Given the description of an element on the screen output the (x, y) to click on. 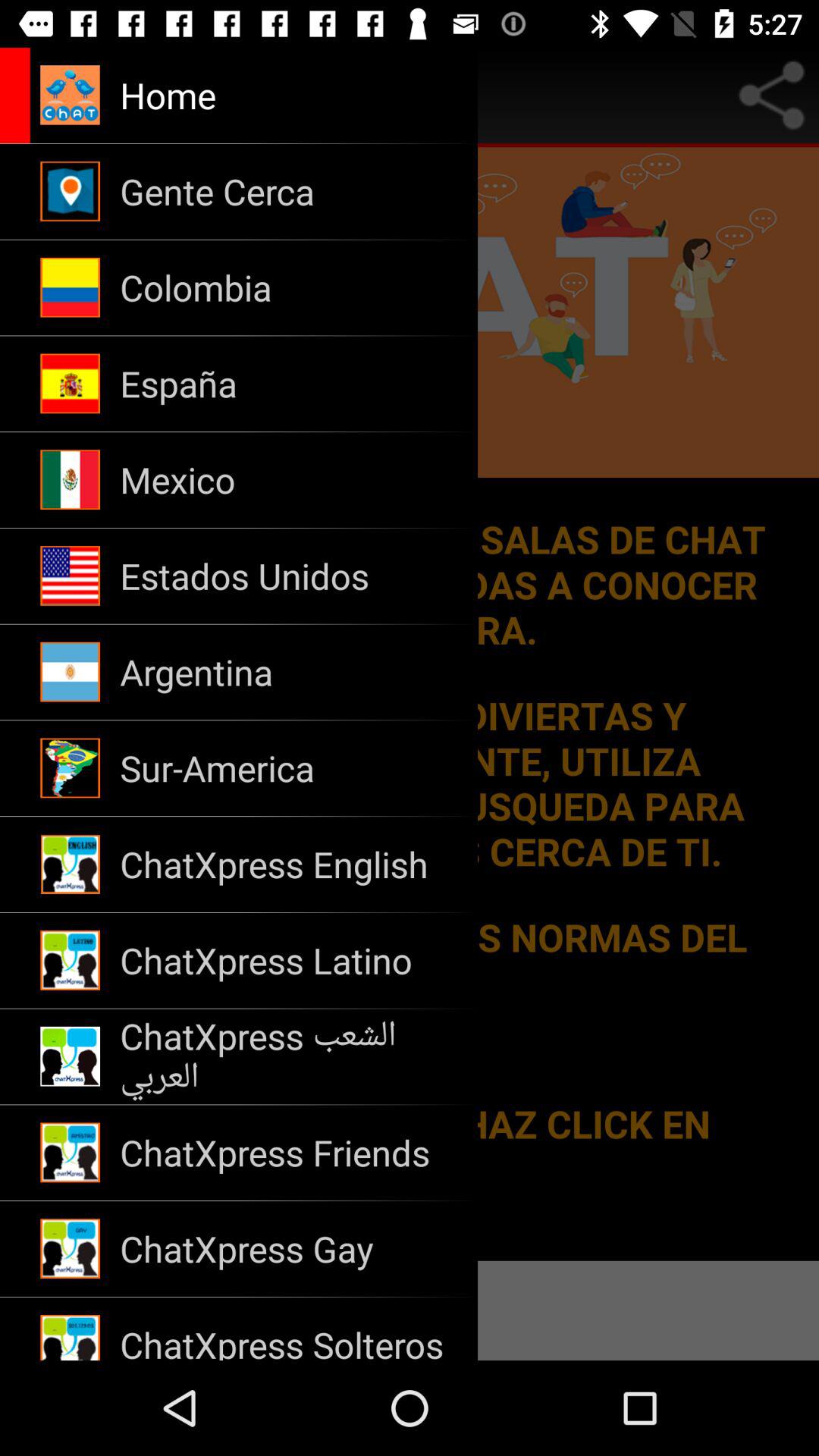
press chatxpress solteros icon (288, 1328)
